Given the description of an element on the screen output the (x, y) to click on. 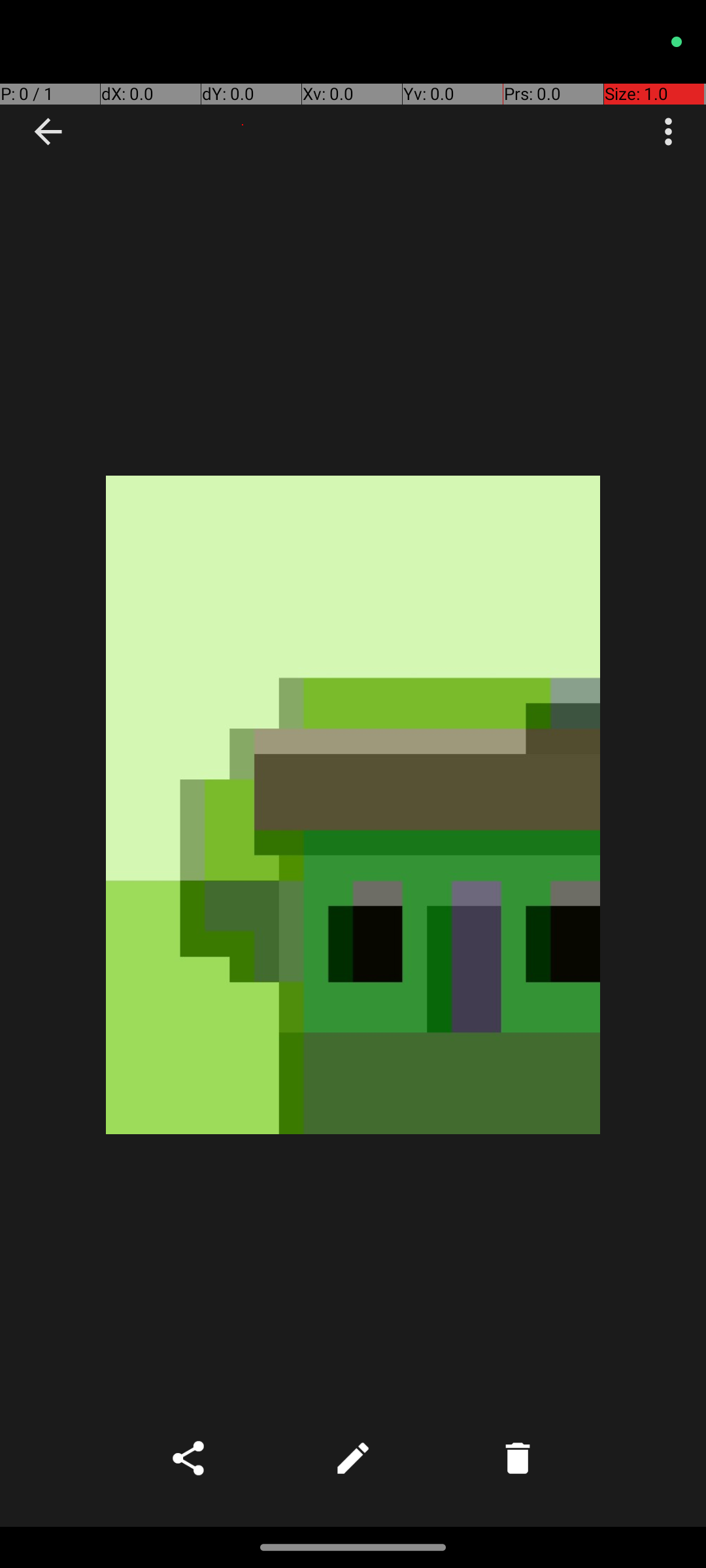
Photo taken on Oct 15, 2023 15:34:19 Element type: android.widget.ImageView (352, 804)
